Given the description of an element on the screen output the (x, y) to click on. 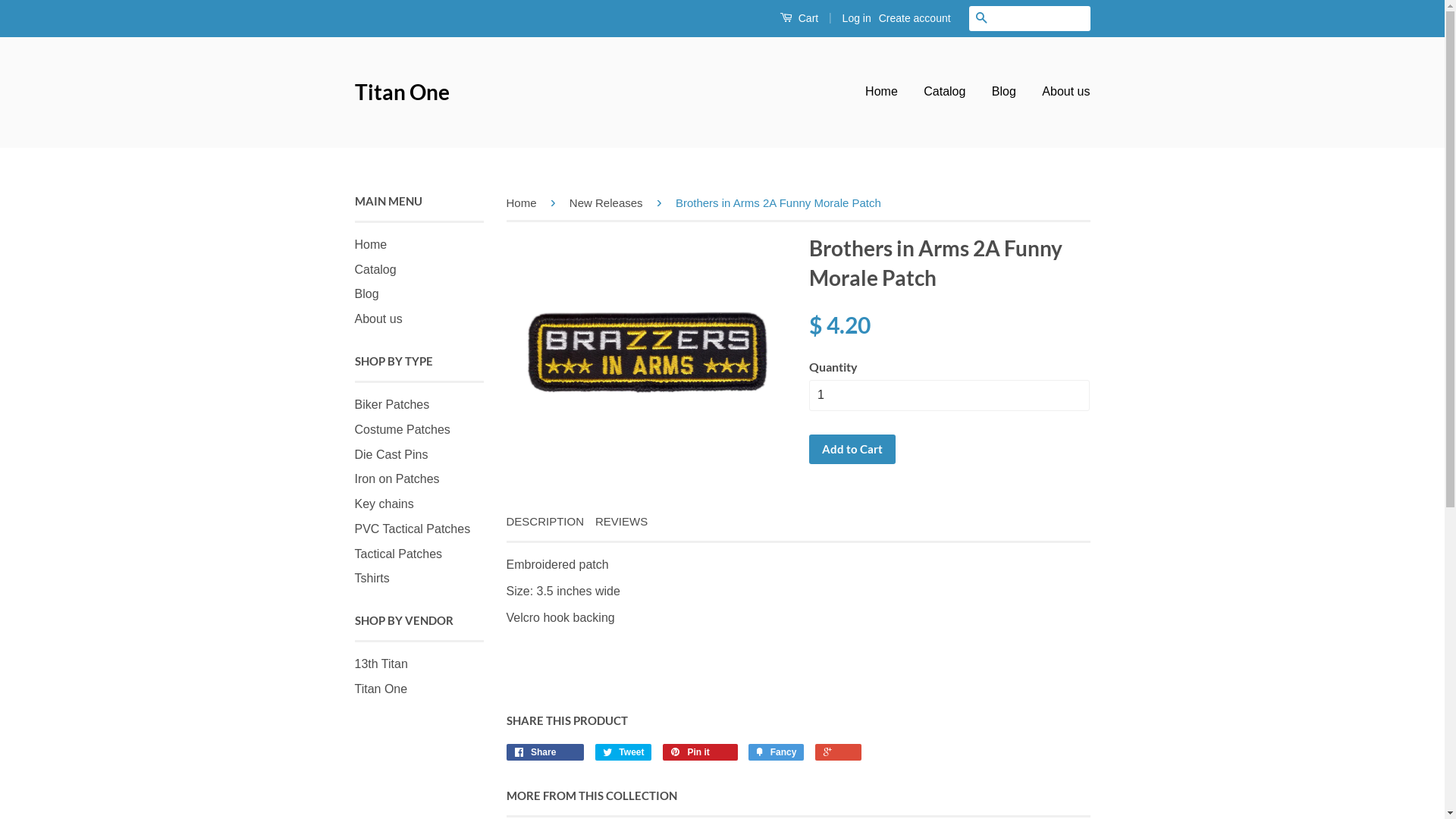
Share Element type: text (545, 751)
Costume Patches Element type: text (402, 429)
Log in Element type: text (856, 18)
About us Element type: text (378, 318)
DESCRIPTION Element type: text (545, 521)
13th Titan Element type: text (380, 663)
Create account Element type: text (914, 18)
Biker Patches Element type: text (391, 404)
Cart Element type: text (798, 17)
Home Element type: text (524, 202)
Blog Element type: text (1003, 91)
Titan One Element type: text (401, 91)
About us Element type: text (1059, 91)
Add to Cart Element type: text (852, 449)
Home Element type: text (370, 244)
Home Element type: text (887, 91)
REVIEWS Element type: text (621, 521)
PVC Tactical Patches Element type: text (412, 528)
Pin it Element type: text (699, 751)
Search Element type: text (981, 18)
Catalog Element type: text (375, 269)
Blog Element type: text (366, 293)
Catalog Element type: text (944, 91)
New Releases Element type: text (608, 202)
Tactical Patches Element type: text (398, 553)
Tshirts Element type: text (371, 577)
Titan One Element type: text (380, 688)
Iron on Patches Element type: text (396, 478)
Fancy Element type: text (775, 751)
Key chains Element type: text (384, 503)
Die Cast Pins Element type: text (391, 453)
Tweet Element type: text (623, 751)
